Given the description of an element on the screen output the (x, y) to click on. 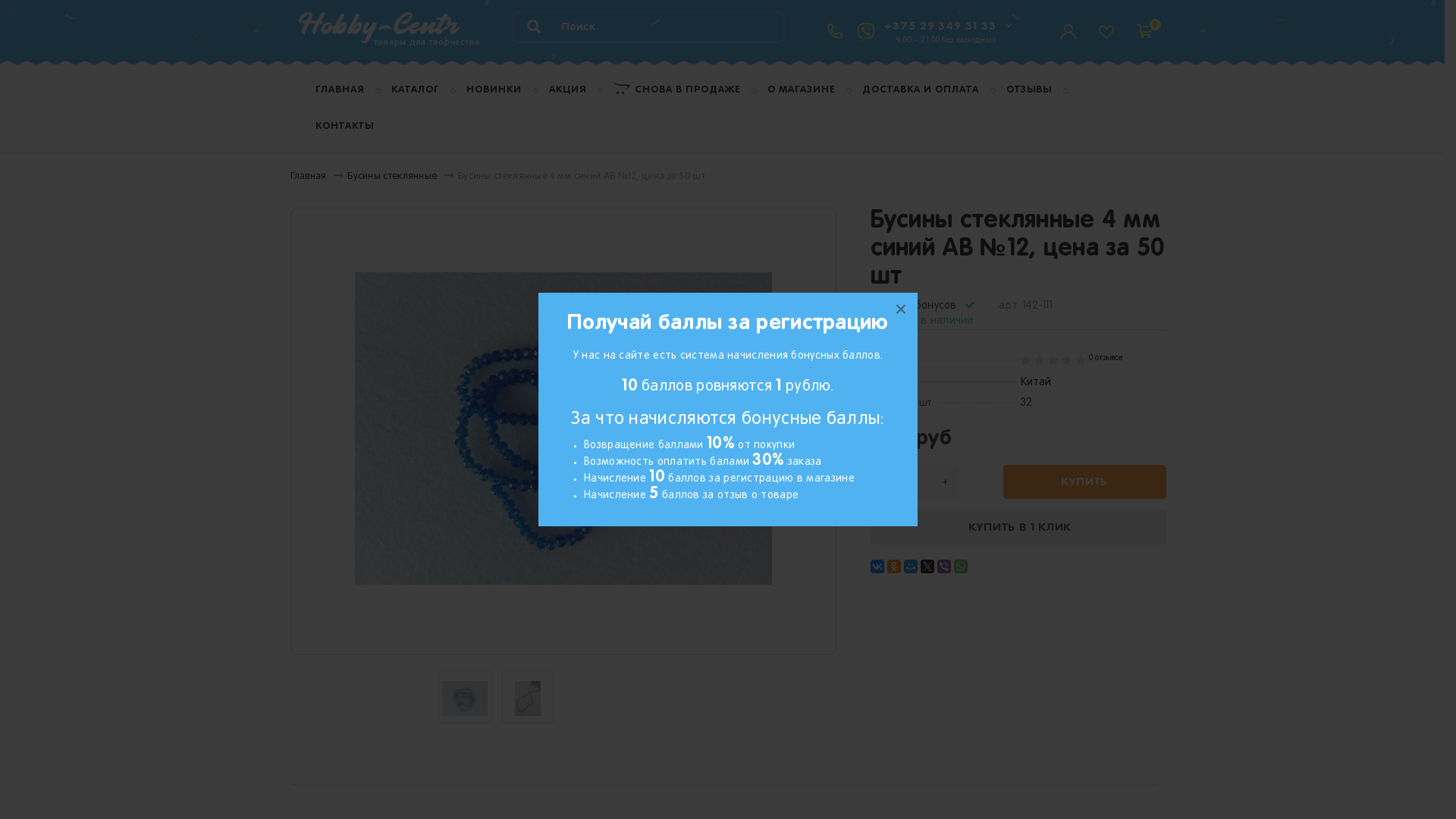
Viber Element type: hover (943, 566)
0 Element type: text (1140, 23)
Twitter Element type: hover (927, 566)
+ Element type: text (943, 481)
- Element type: text (883, 481)
WhatsApp Element type: hover (960, 566)
+375 29 349 31 33 Element type: text (939, 25)
